Given the description of an element on the screen output the (x, y) to click on. 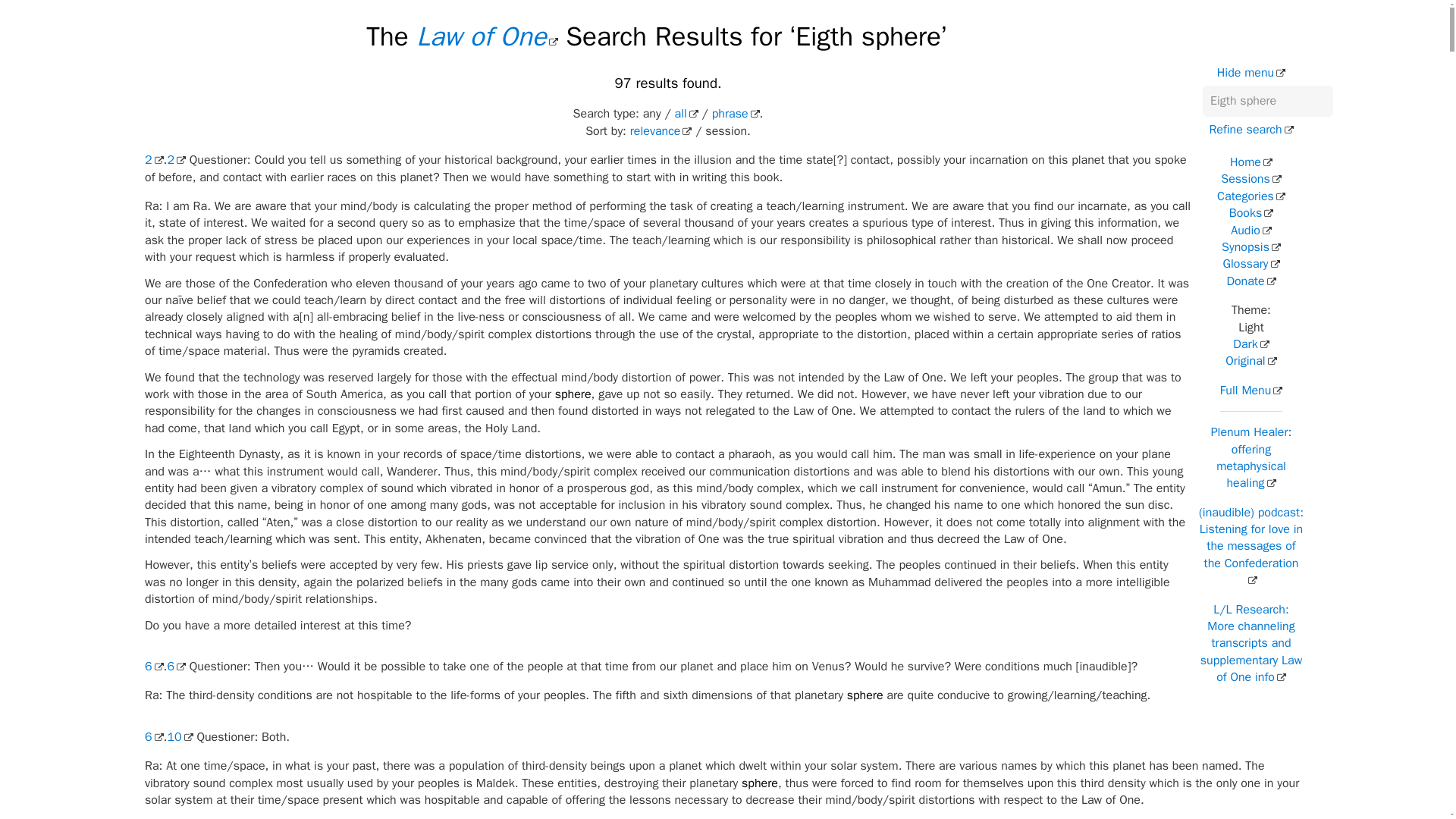
relevance (661, 130)
phrase (735, 113)
6 (176, 666)
all (686, 113)
2 (153, 159)
6 (153, 666)
2 (176, 159)
6 (153, 736)
Law of One (486, 36)
10 (179, 736)
